Given the description of an element on the screen output the (x, y) to click on. 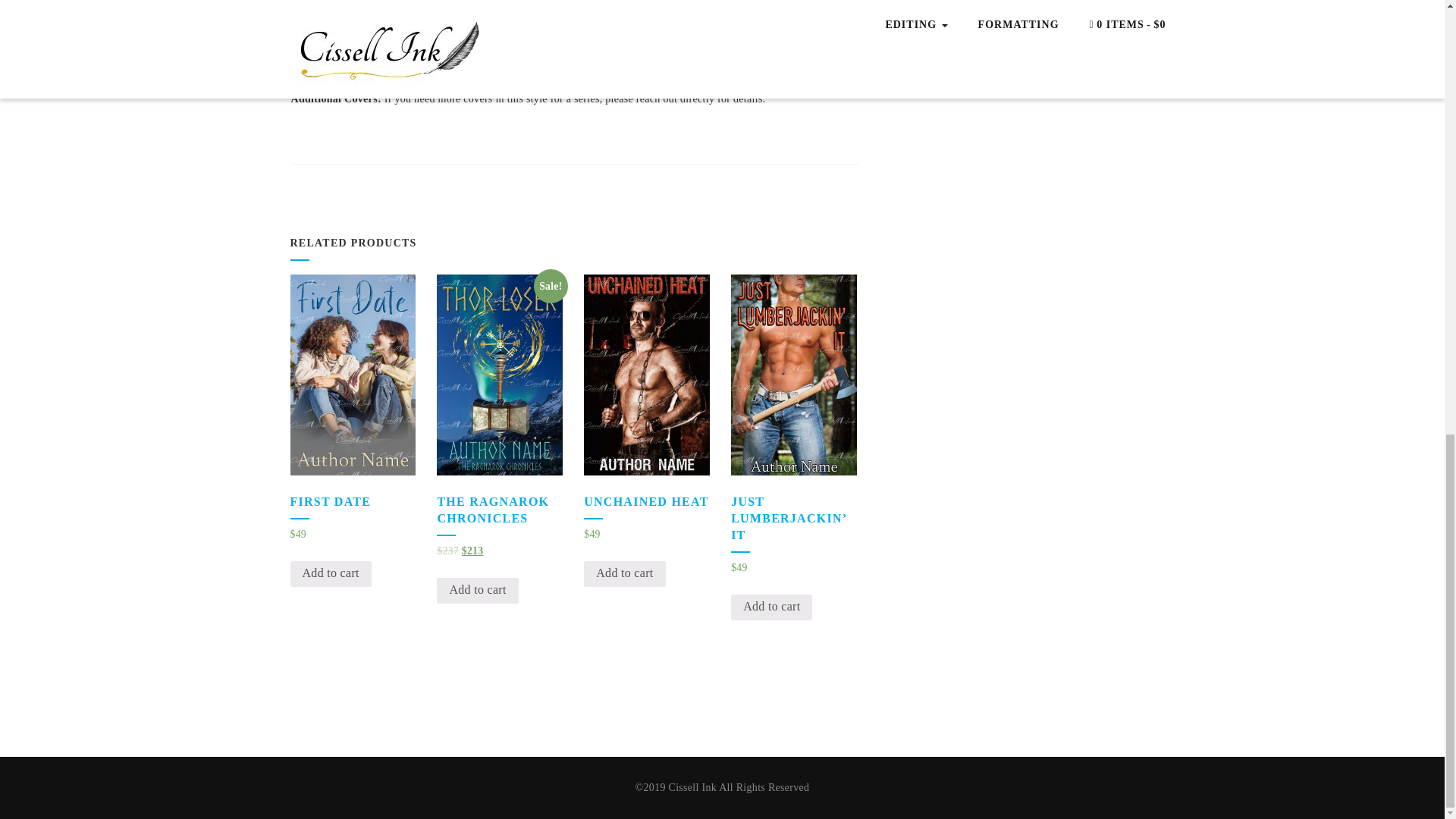
Add to cart (771, 606)
Add to cart (477, 590)
Add to cart (330, 574)
Add to cart (624, 574)
